Given the description of an element on the screen output the (x, y) to click on. 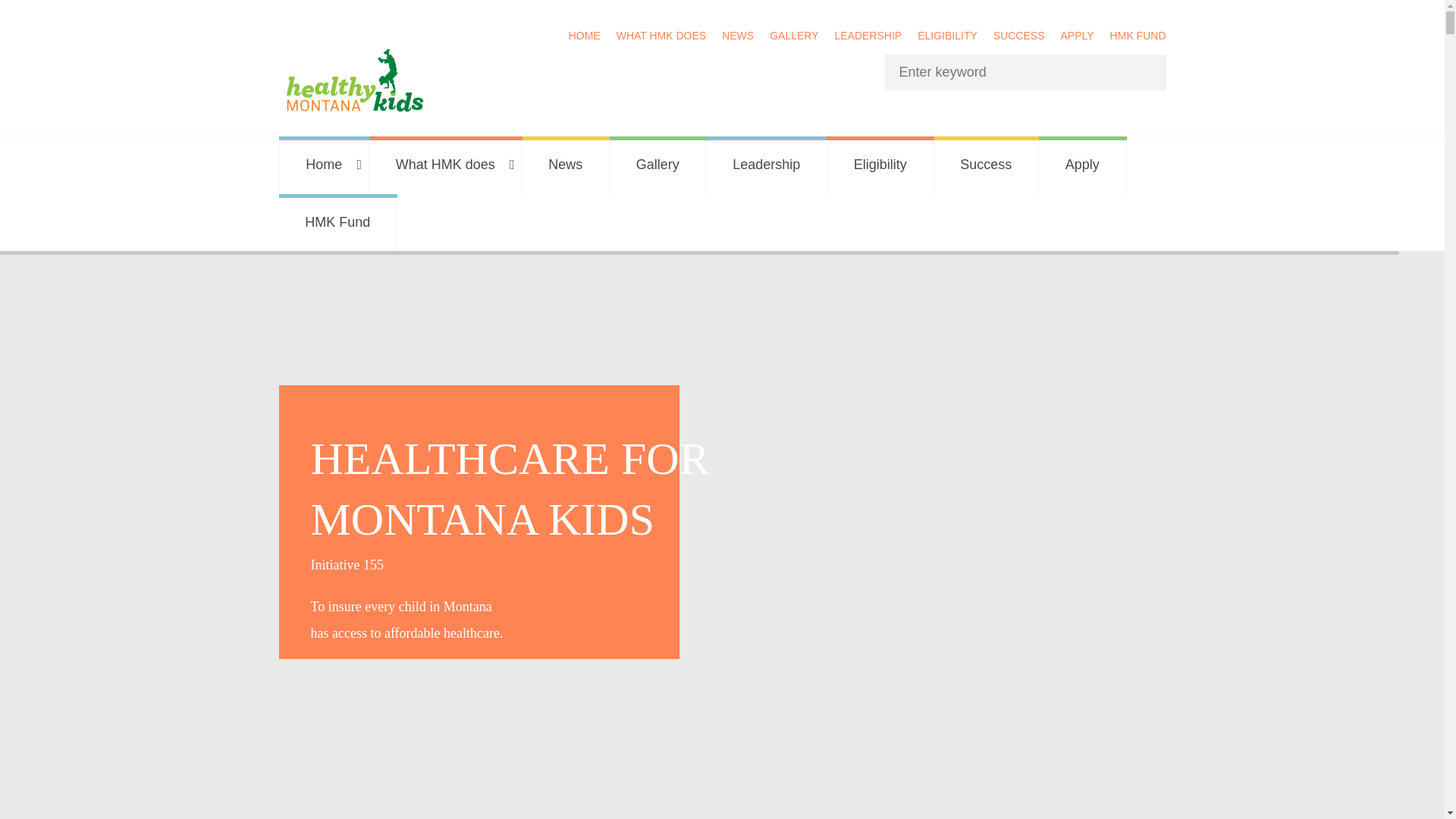
HMK FUND (1137, 30)
WHAT HMK DOES (660, 30)
GALLERY (794, 30)
Enter keyword (1010, 72)
What HMK does (445, 165)
Leadership (766, 165)
Apply (1082, 165)
Gallery (658, 165)
Success (986, 165)
HMK Fund (338, 222)
APPLY (1076, 30)
News (564, 165)
SUCCESS (1018, 30)
NEWS (738, 30)
LEADERSHIP (868, 30)
